Given the description of an element on the screen output the (x, y) to click on. 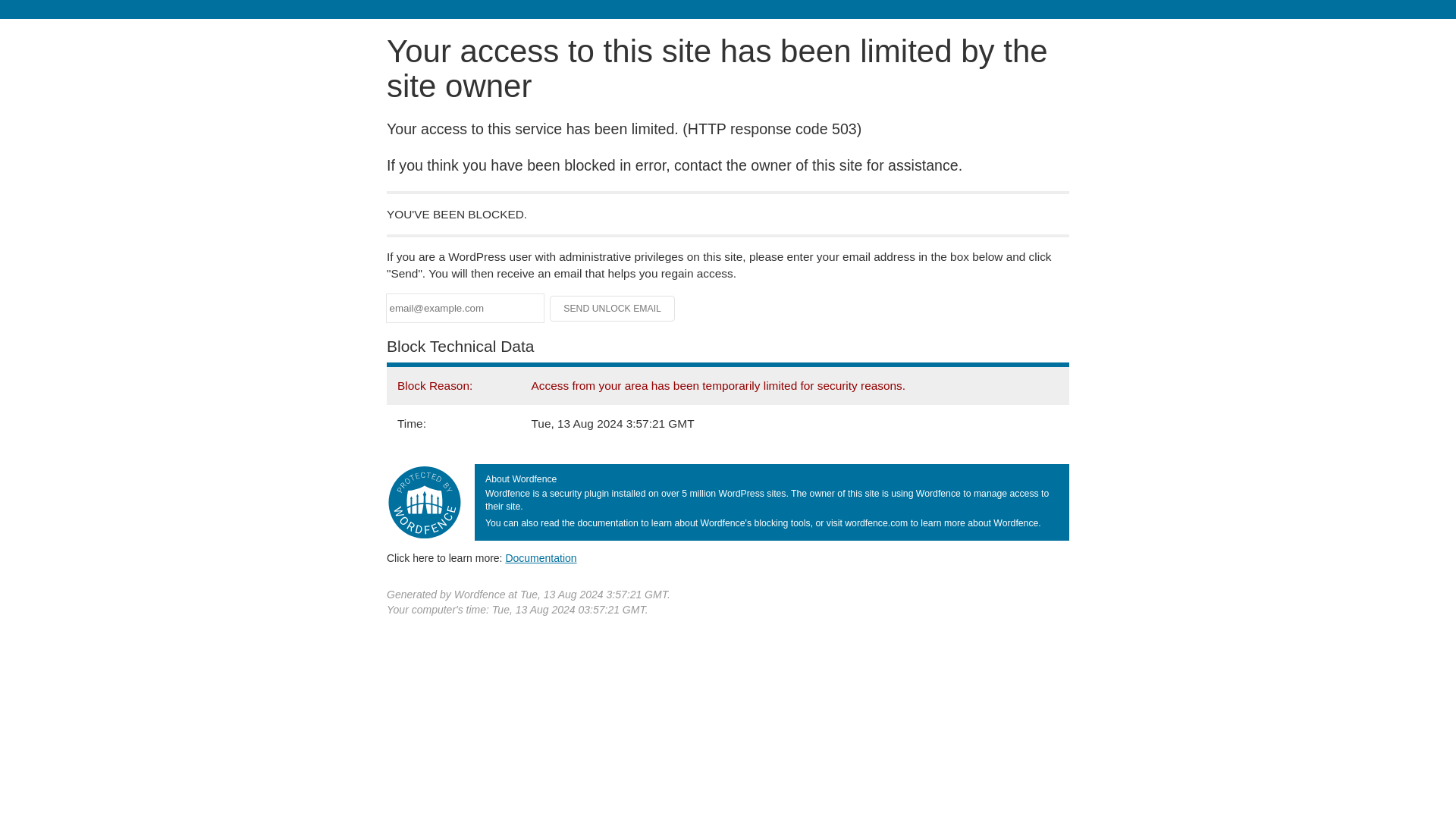
Send Unlock Email (612, 308)
Send Unlock Email (612, 308)
Documentation (540, 558)
